Given the description of an element on the screen output the (x, y) to click on. 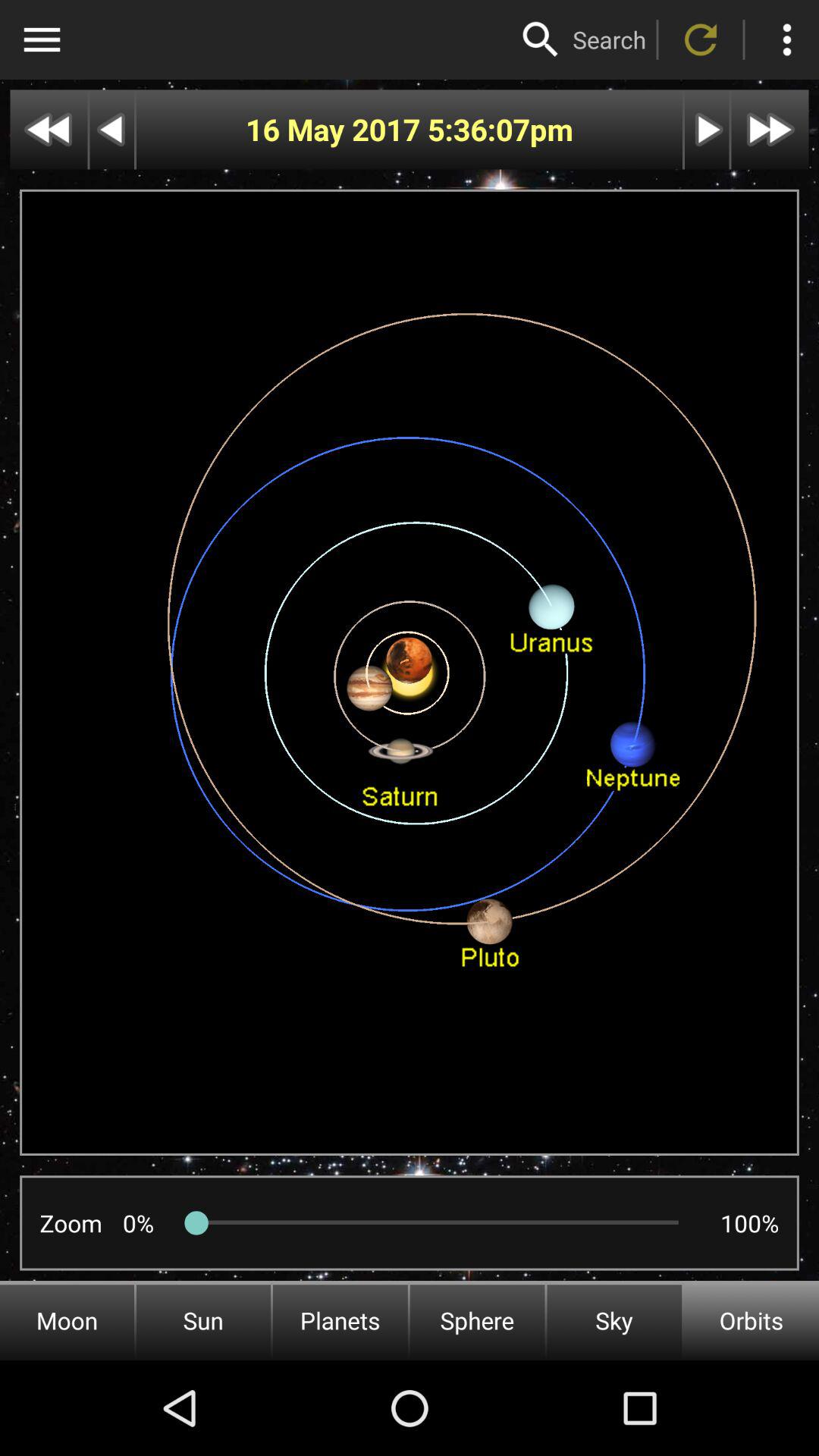
activate magnifier icon (540, 39)
